Given the description of an element on the screen output the (x, y) to click on. 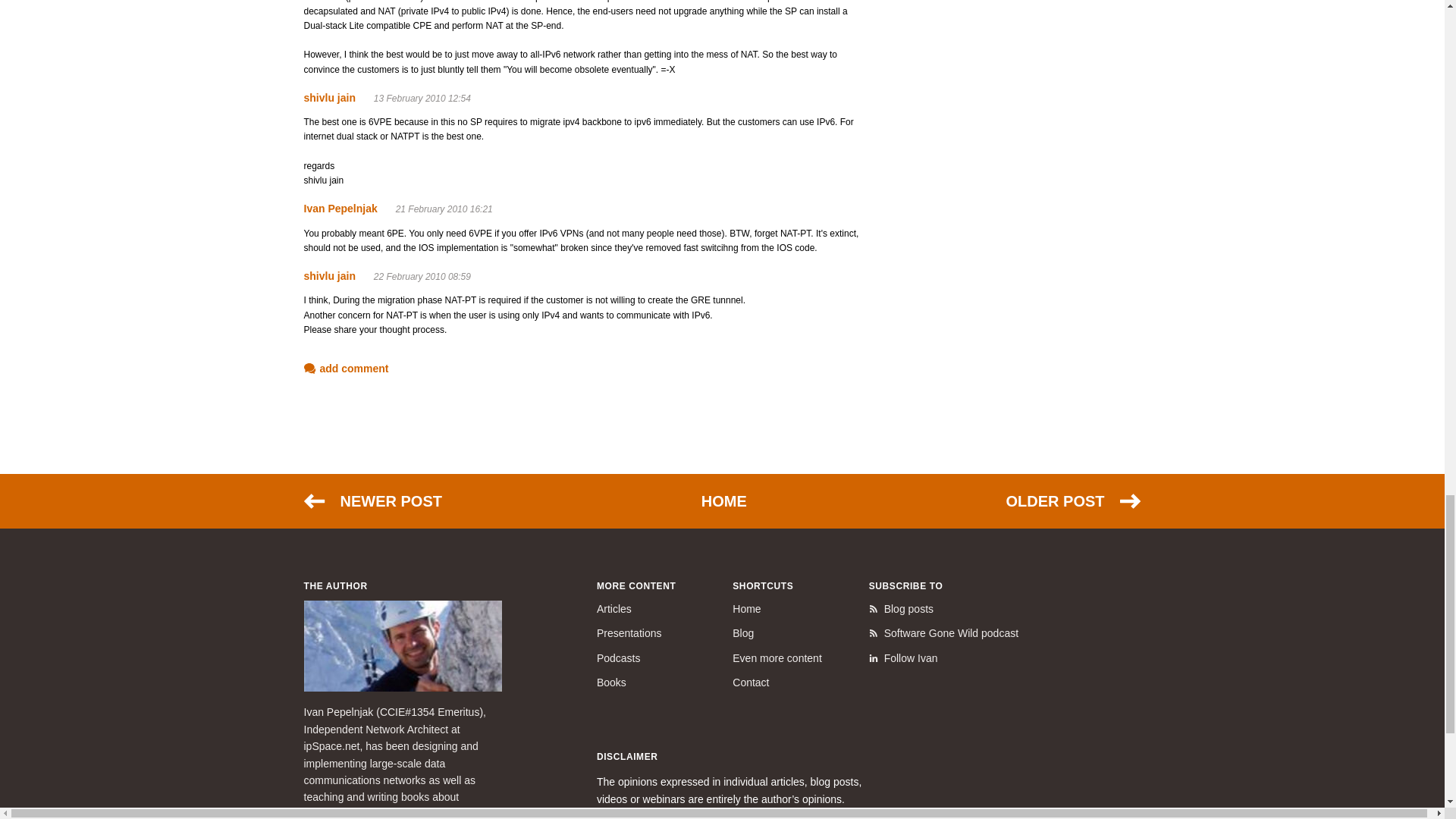
Newer Post (371, 500)
Older Post (1073, 500)
